Given the description of an element on the screen output the (x, y) to click on. 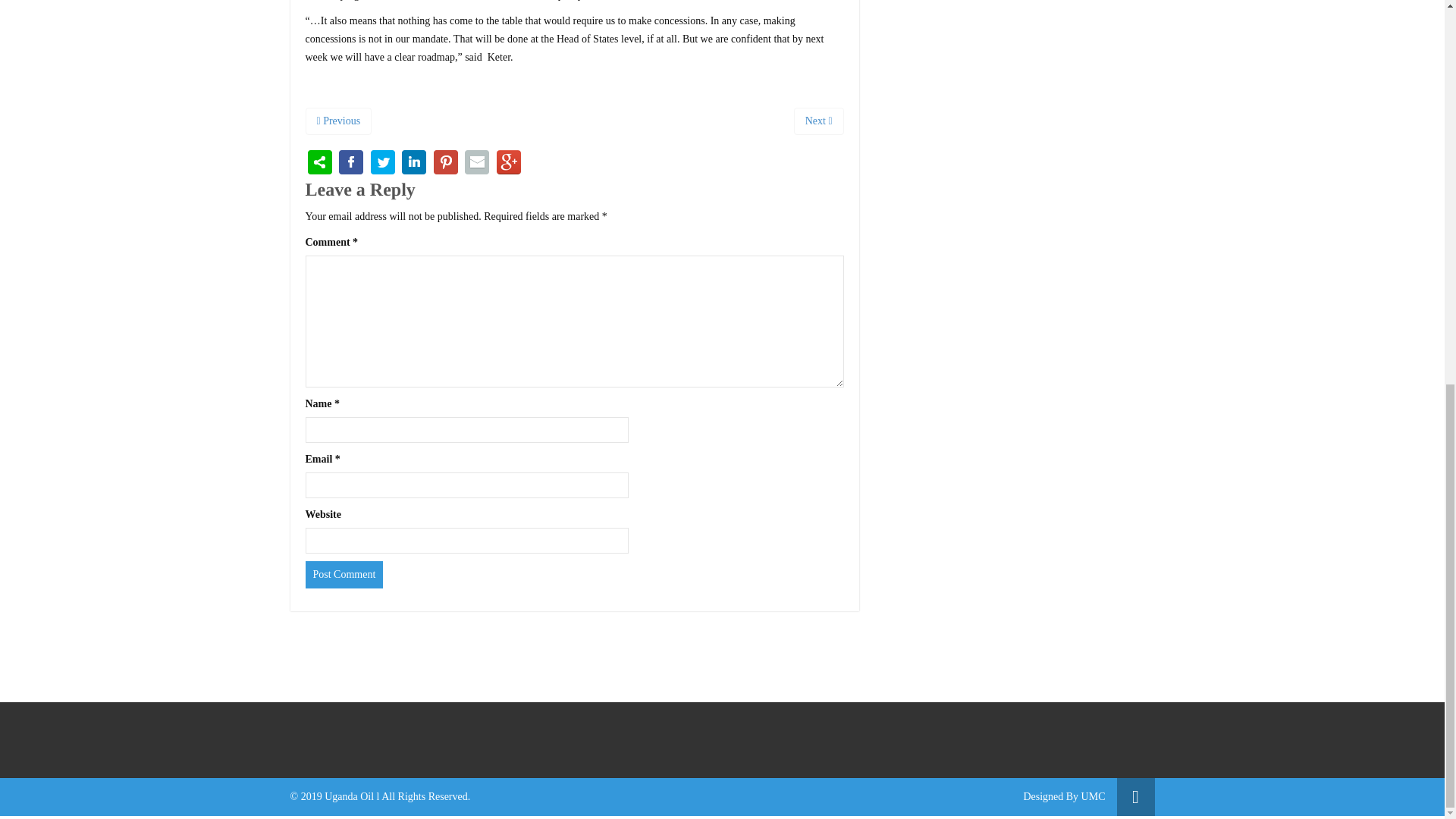
UMC (1093, 796)
Value Added News, Information and Knowledge (1093, 796)
Previous (337, 121)
Post Comment (343, 574)
Next (818, 121)
Post Comment (343, 574)
